Given the description of an element on the screen output the (x, y) to click on. 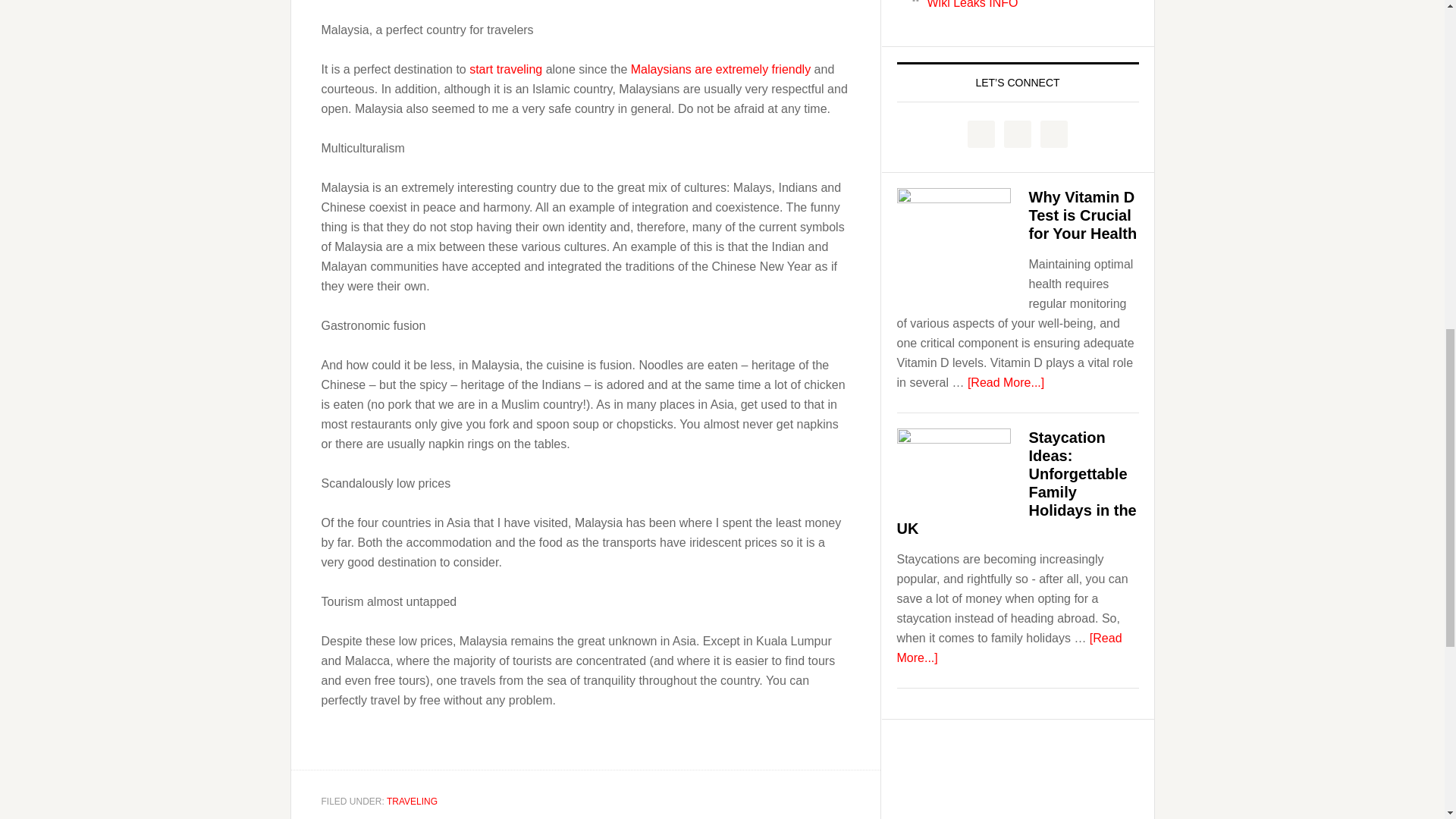
Malaysians are extremely friendly (720, 68)
TRAVELING (412, 801)
Staycation Ideas: Unforgettable Family Holidays in the UK (1015, 483)
Why Vitamin D Test is Crucial for Your Health (1082, 215)
start traveling (504, 68)
Wiki Leaks INFO (971, 4)
